Given the description of an element on the screen output the (x, y) to click on. 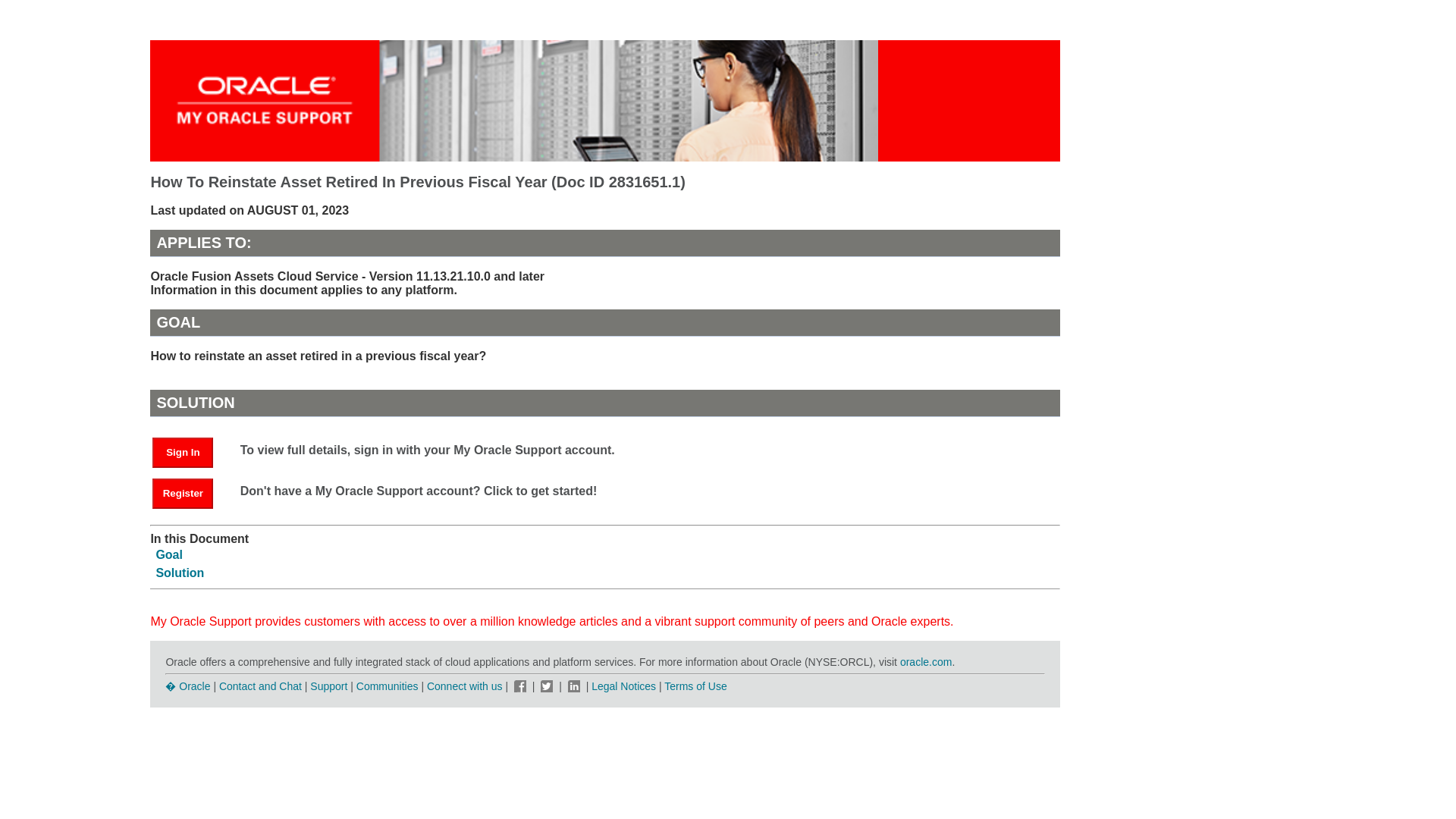
Contact and Chat (260, 686)
Solution (179, 572)
Communities (387, 686)
Connect with us (465, 686)
Sign In (182, 452)
Terms of Use (694, 686)
Legal Notices (623, 686)
Support (328, 686)
oracle.com (925, 662)
Register (182, 493)
